Given the description of an element on the screen output the (x, y) to click on. 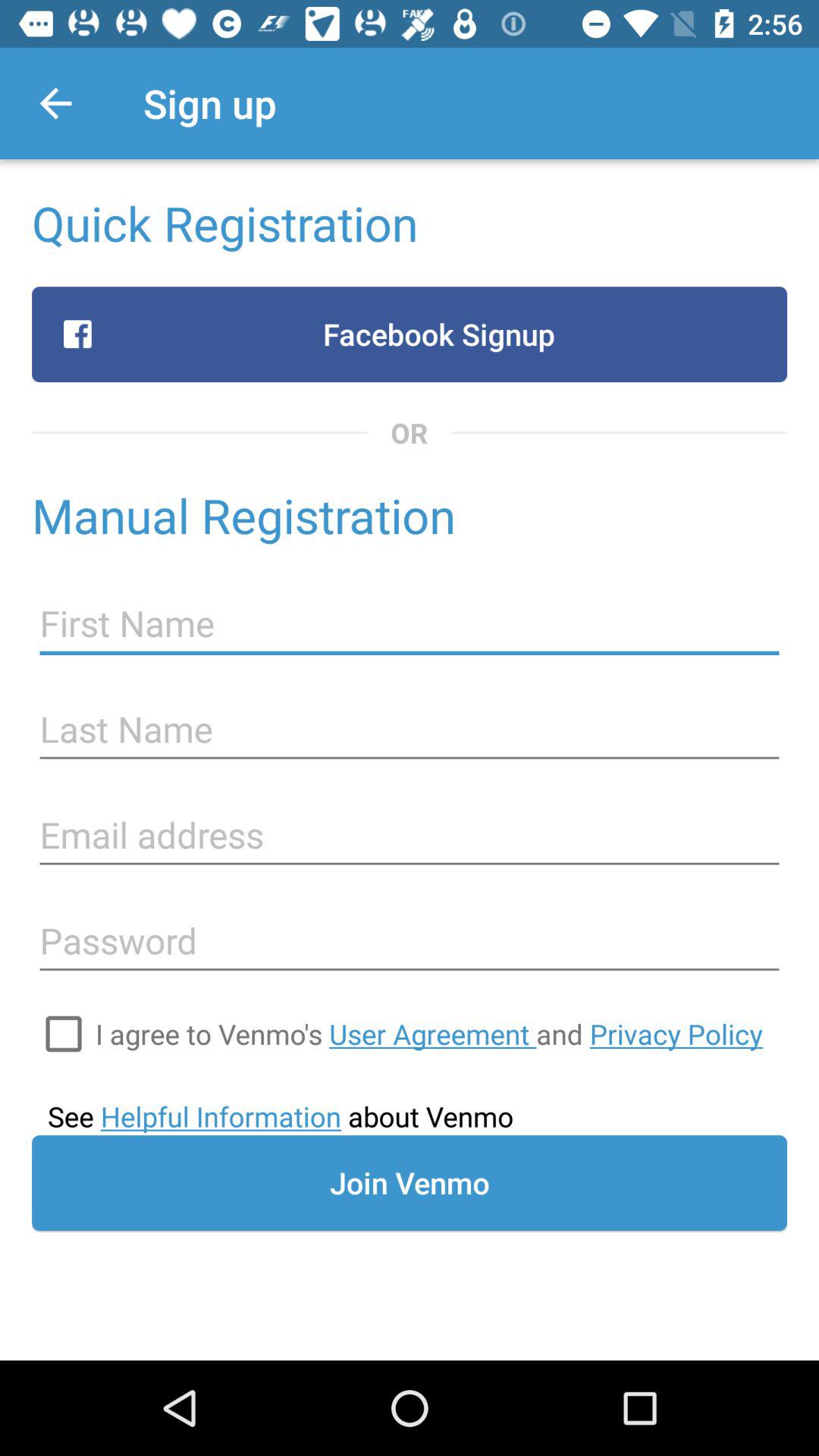
click i agree to (428, 1033)
